Given the description of an element on the screen output the (x, y) to click on. 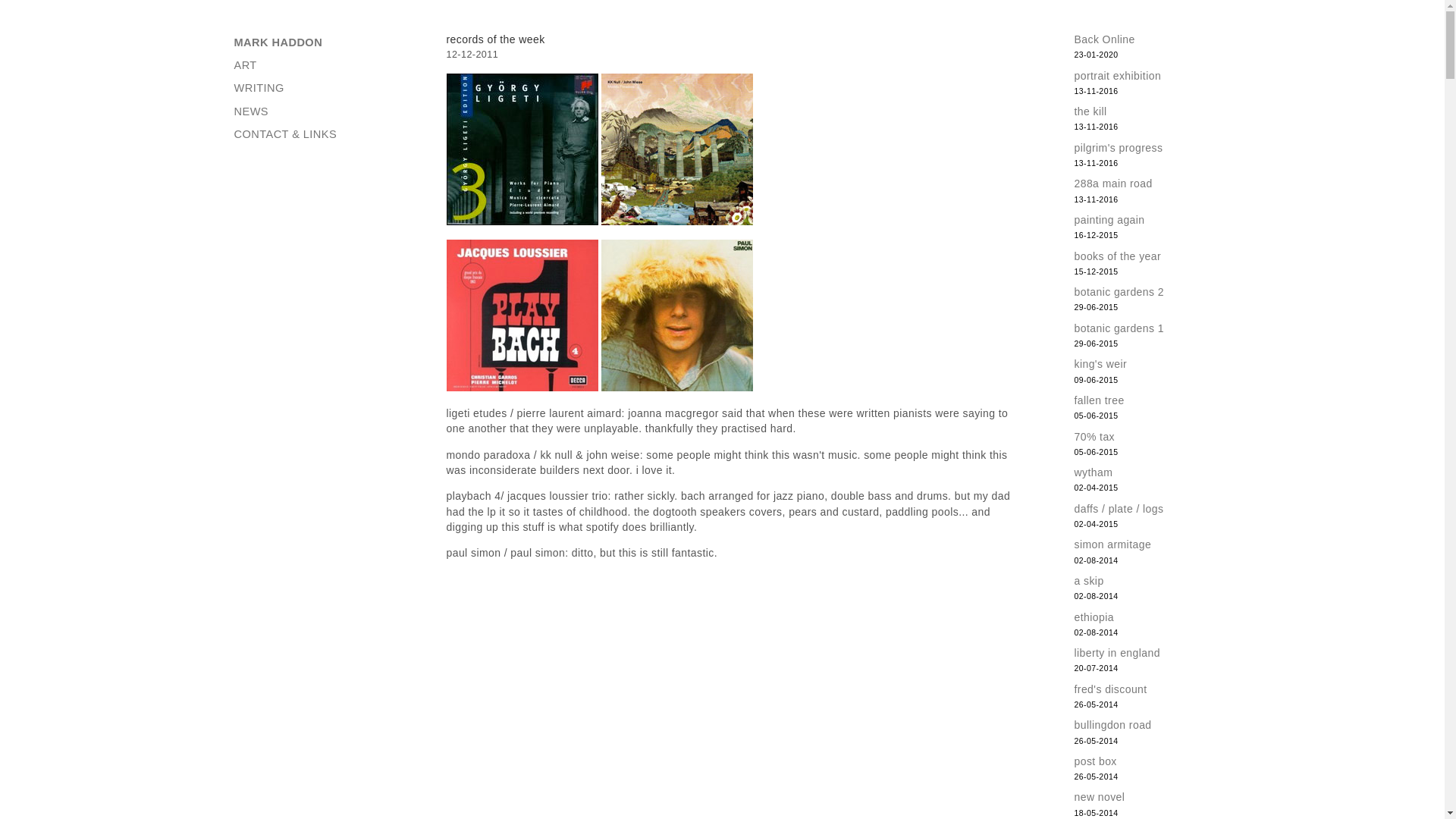
NEWS (315, 110)
pilgrim's progress (1117, 147)
Back Online (1104, 39)
botanic gardens 1 (1118, 328)
portrait exhibition (1117, 75)
post box (1095, 761)
liberty in england (1116, 653)
books of the year (1117, 256)
WRITING (315, 87)
king's weir (1100, 363)
botanic gardens 2 (1118, 291)
simon armitage (1112, 544)
wytham (1093, 472)
the kill (1090, 111)
fred's discount (1110, 689)
